Given the description of an element on the screen output the (x, y) to click on. 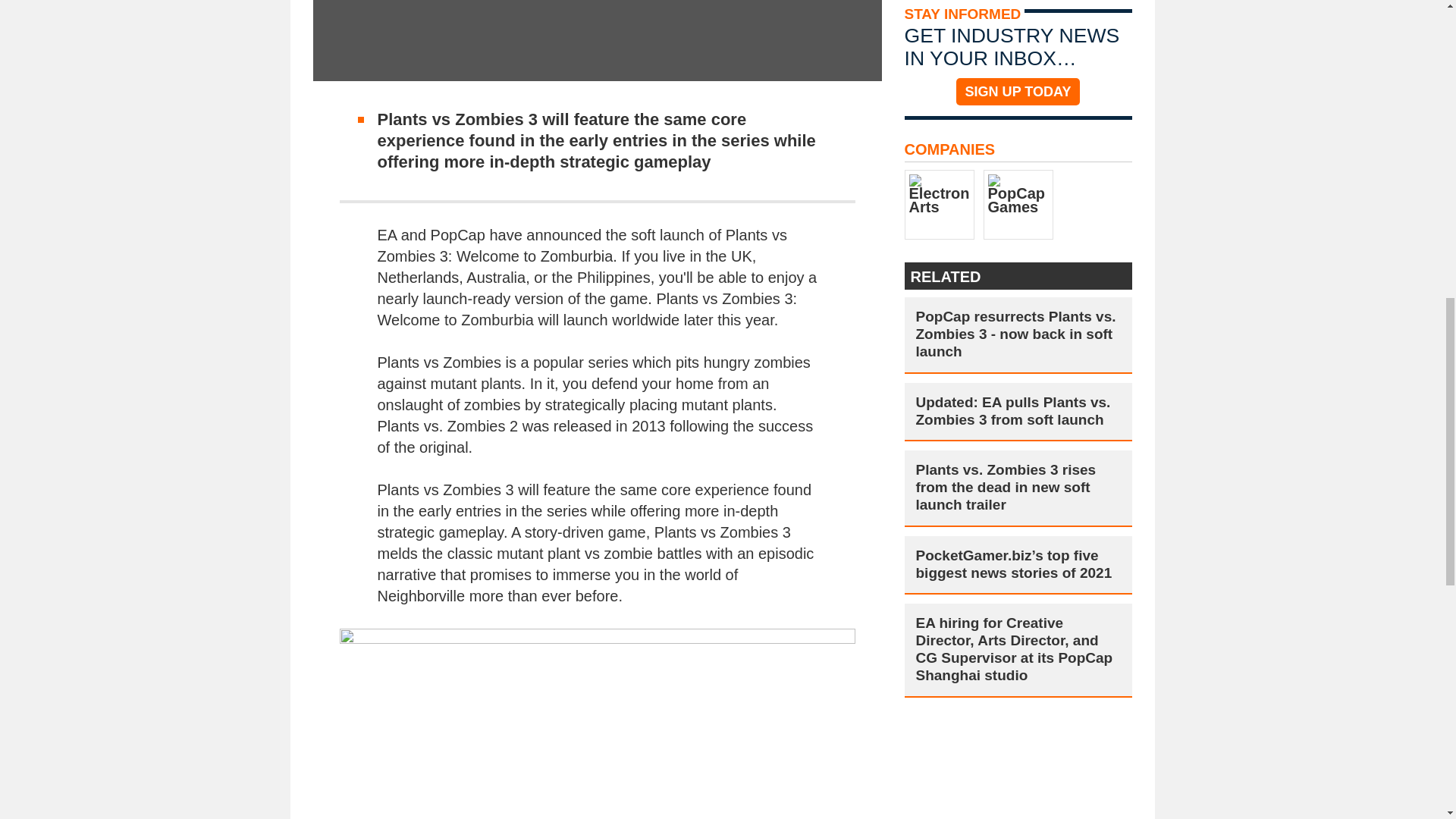
Updated: EA pulls Plants vs. Zombies 3 from soft launch (1017, 411)
